Given the description of an element on the screen output the (x, y) to click on. 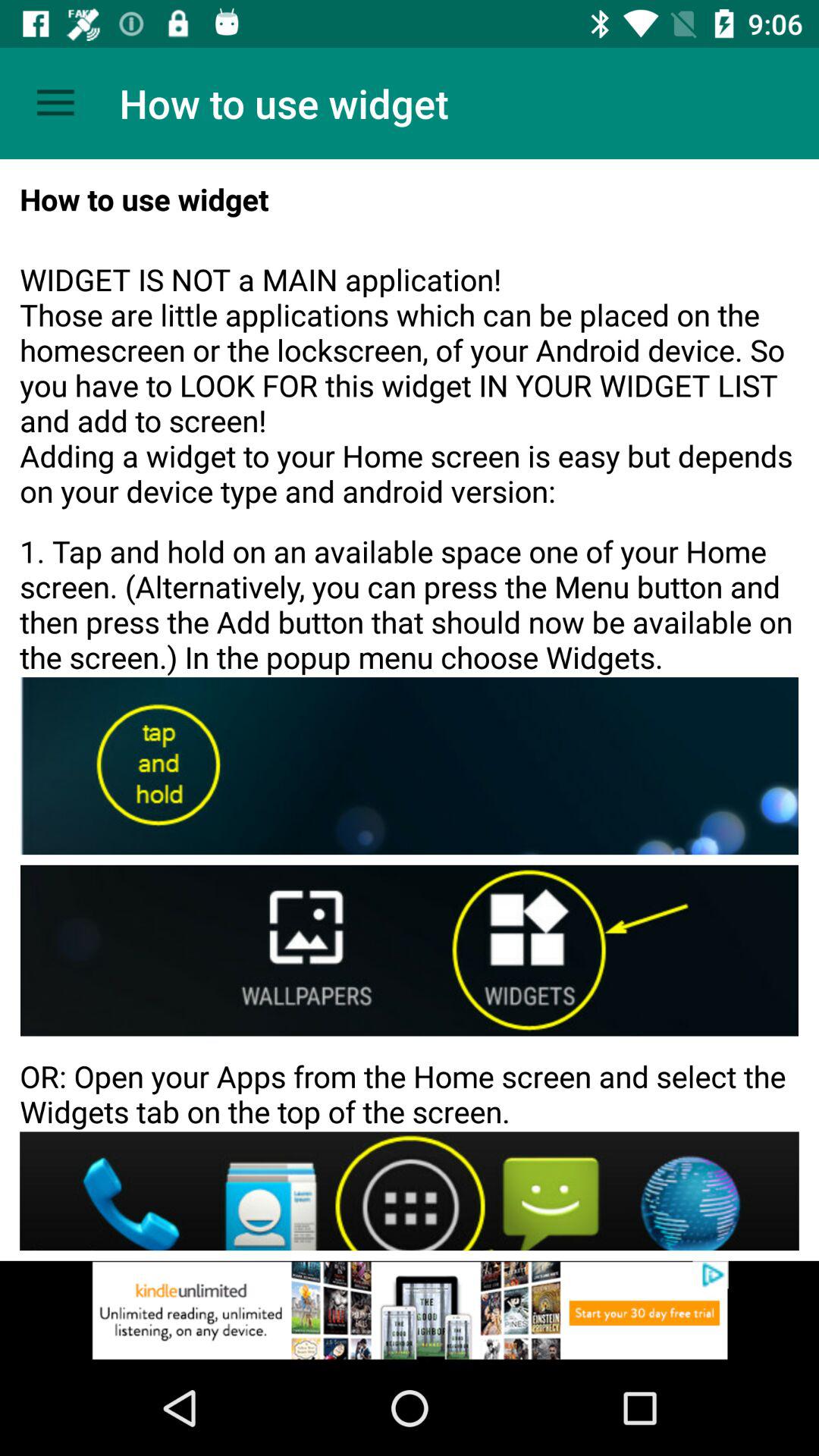
space where you access advertising (409, 1310)
